Given the description of an element on the screen output the (x, y) to click on. 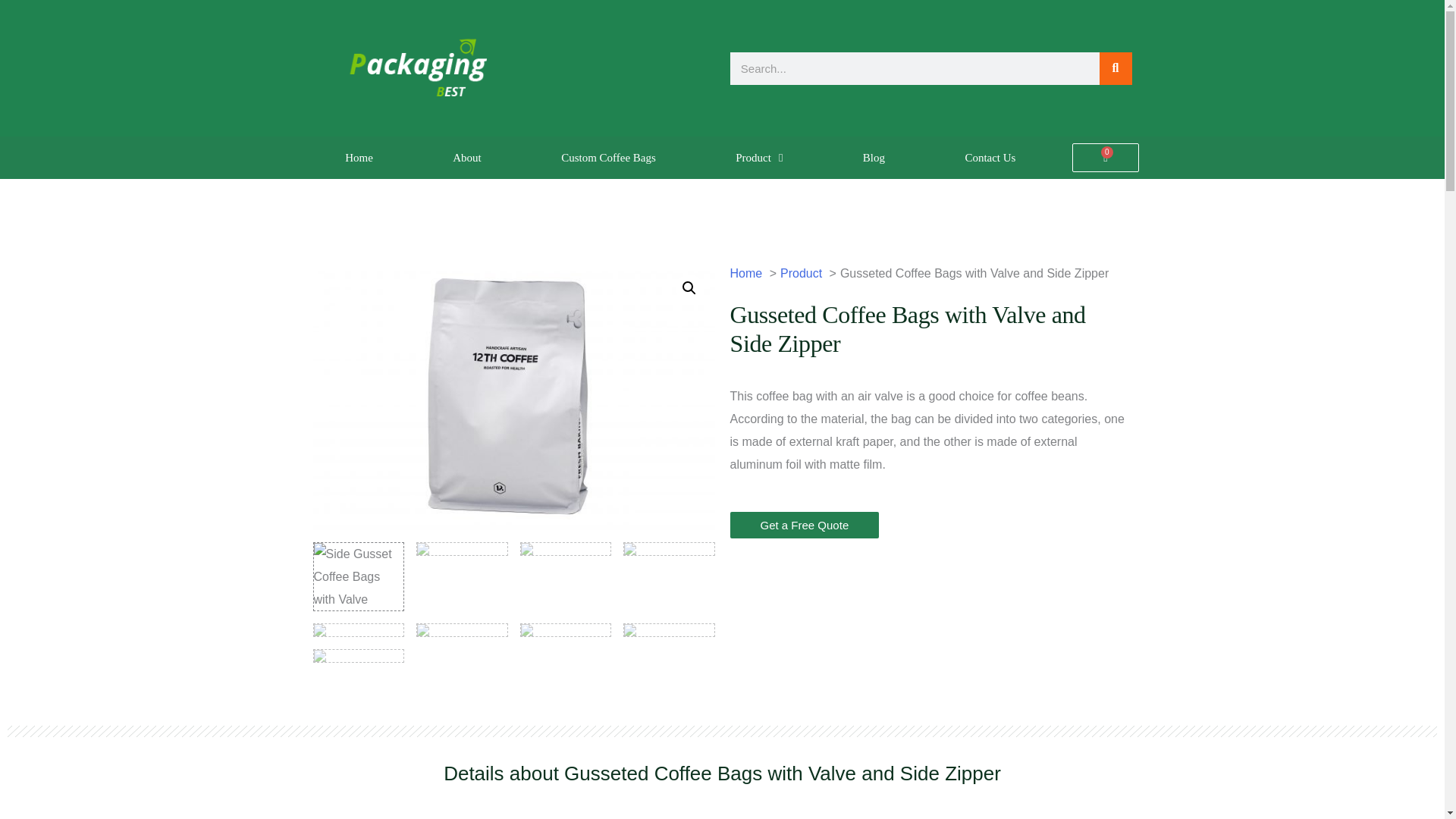
Product (759, 157)
Custom Coffee Bags (608, 157)
Blog (873, 157)
Contact Us (989, 157)
Side Gusset Coffee Bags with Valve (513, 395)
0 (1104, 157)
About (467, 157)
Home (358, 157)
